Given the description of an element on the screen output the (x, y) to click on. 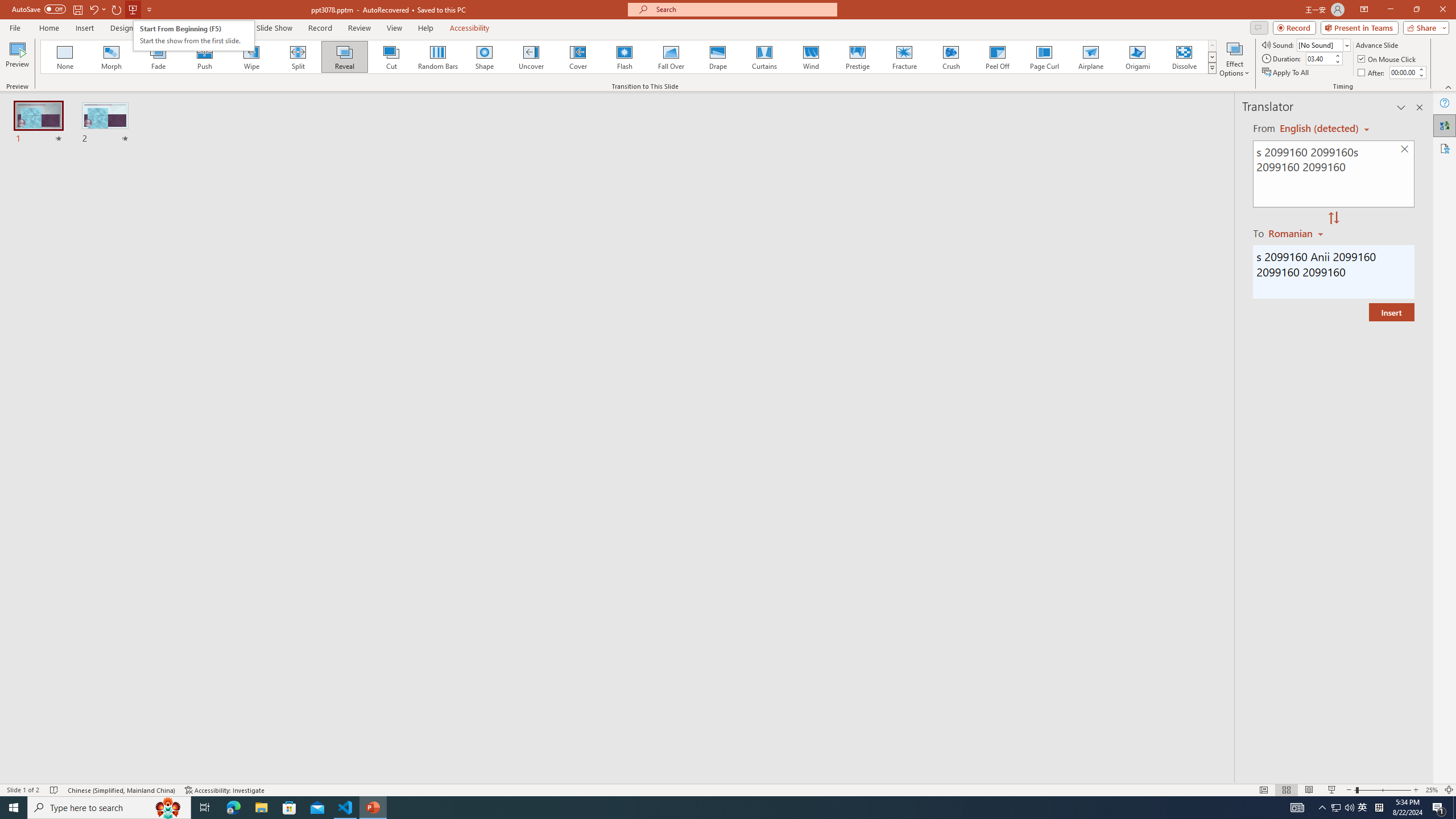
Morph (111, 56)
Zoom 25% (1431, 790)
Reveal (344, 56)
After (1372, 72)
Origami (1136, 56)
